Given the description of an element on the screen output the (x, y) to click on. 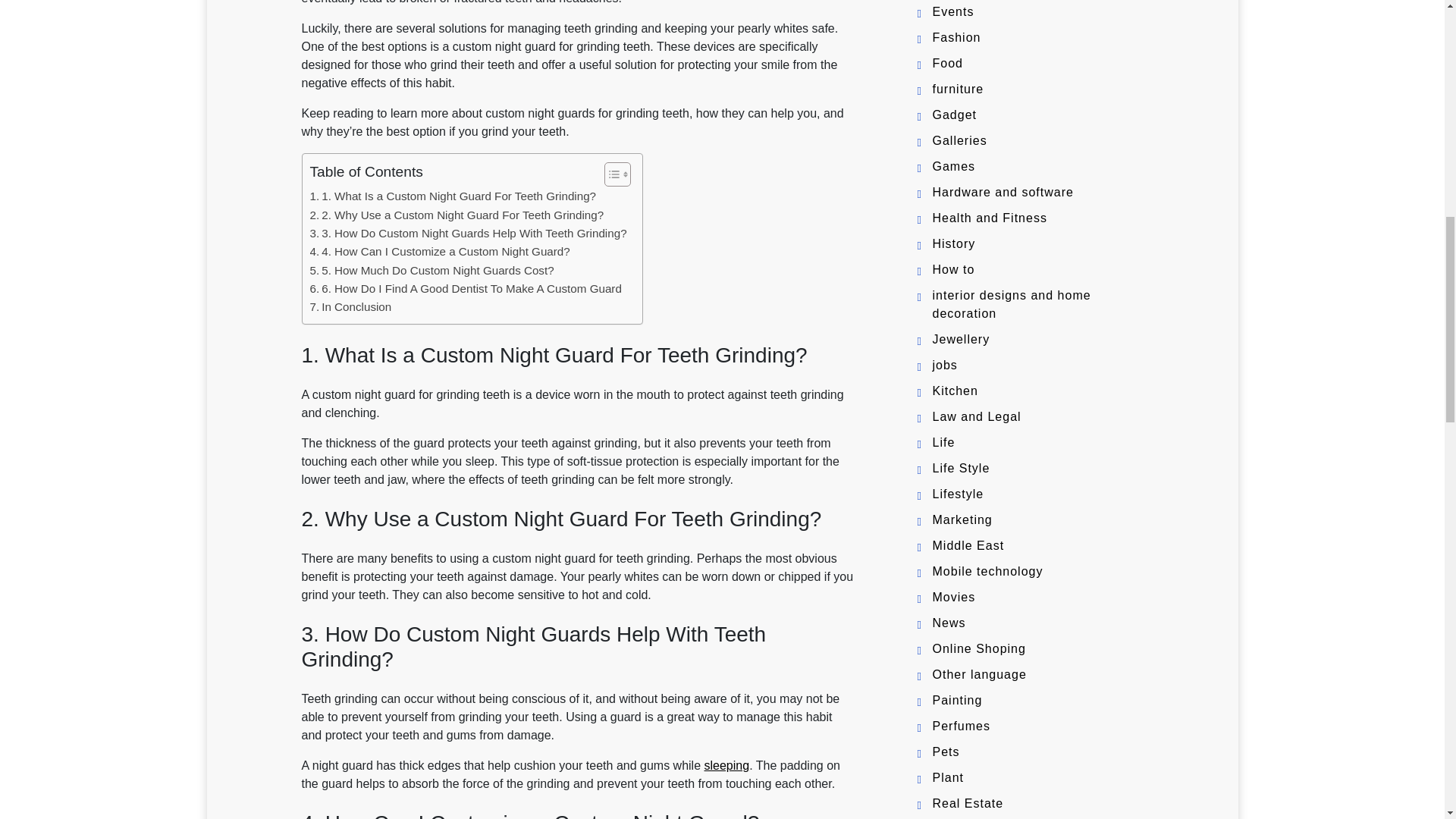
In Conclusion (349, 307)
3. How Do Custom Night Guards Help With Teeth Grinding? (467, 233)
1. What Is a Custom Night Guard For Teeth Grinding? (451, 196)
2. Why Use a Custom Night Guard For Teeth Grinding? (456, 215)
3. How Do Custom Night Guards Help With Teeth Grinding? (467, 233)
6. How Do I Find A Good Dentist To Make A Custom Guard (464, 289)
4. How Can I Customize a Custom Night Guard? (438, 251)
5. How Much Do Custom Night Guards Cost? (430, 270)
In Conclusion (349, 307)
6. How Do I Find A Good Dentist To Make A Custom Guard (464, 289)
